Given the description of an element on the screen output the (x, y) to click on. 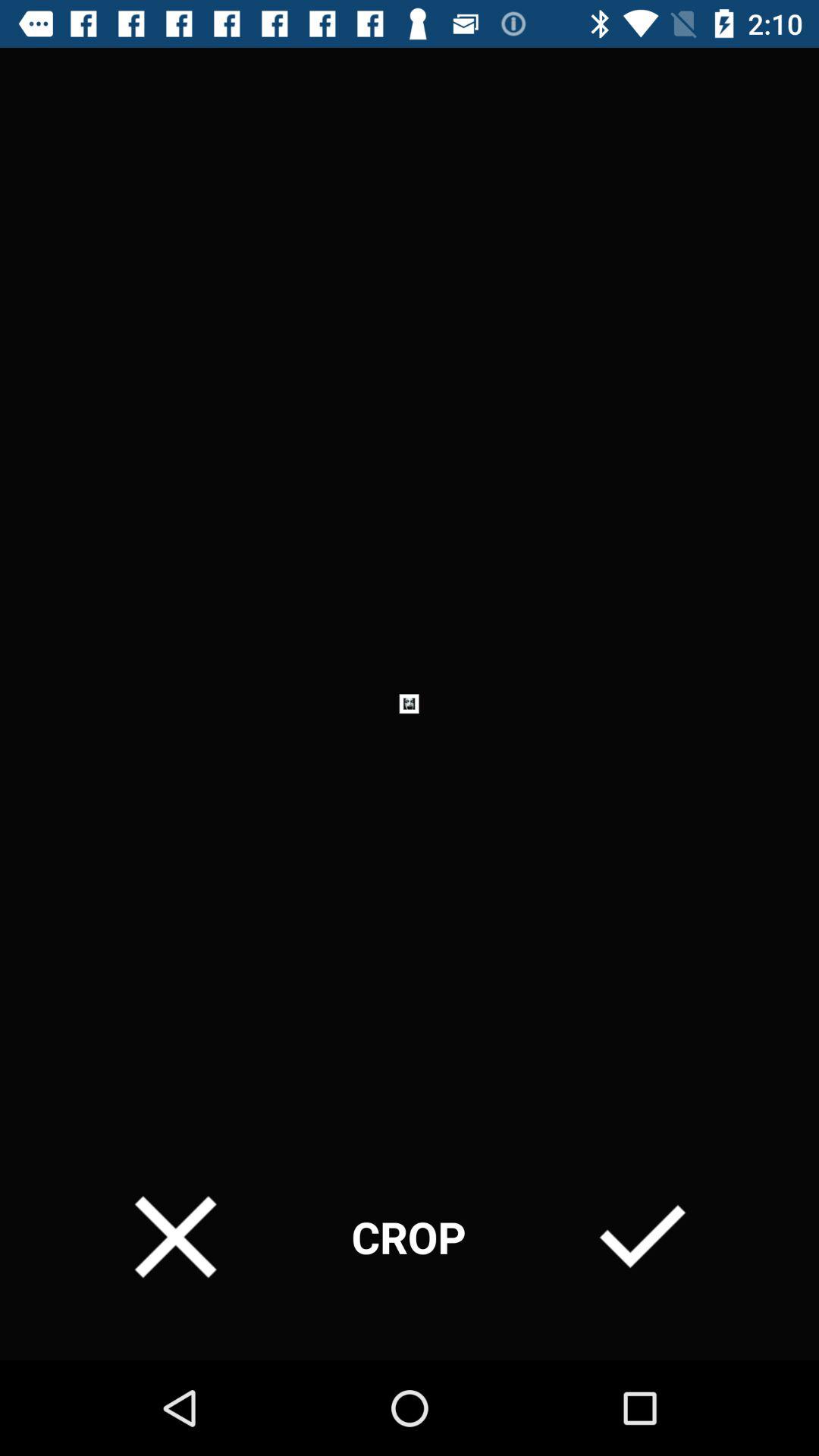
choose the icon to the right of the crop icon (642, 1236)
